Given the description of an element on the screen output the (x, y) to click on. 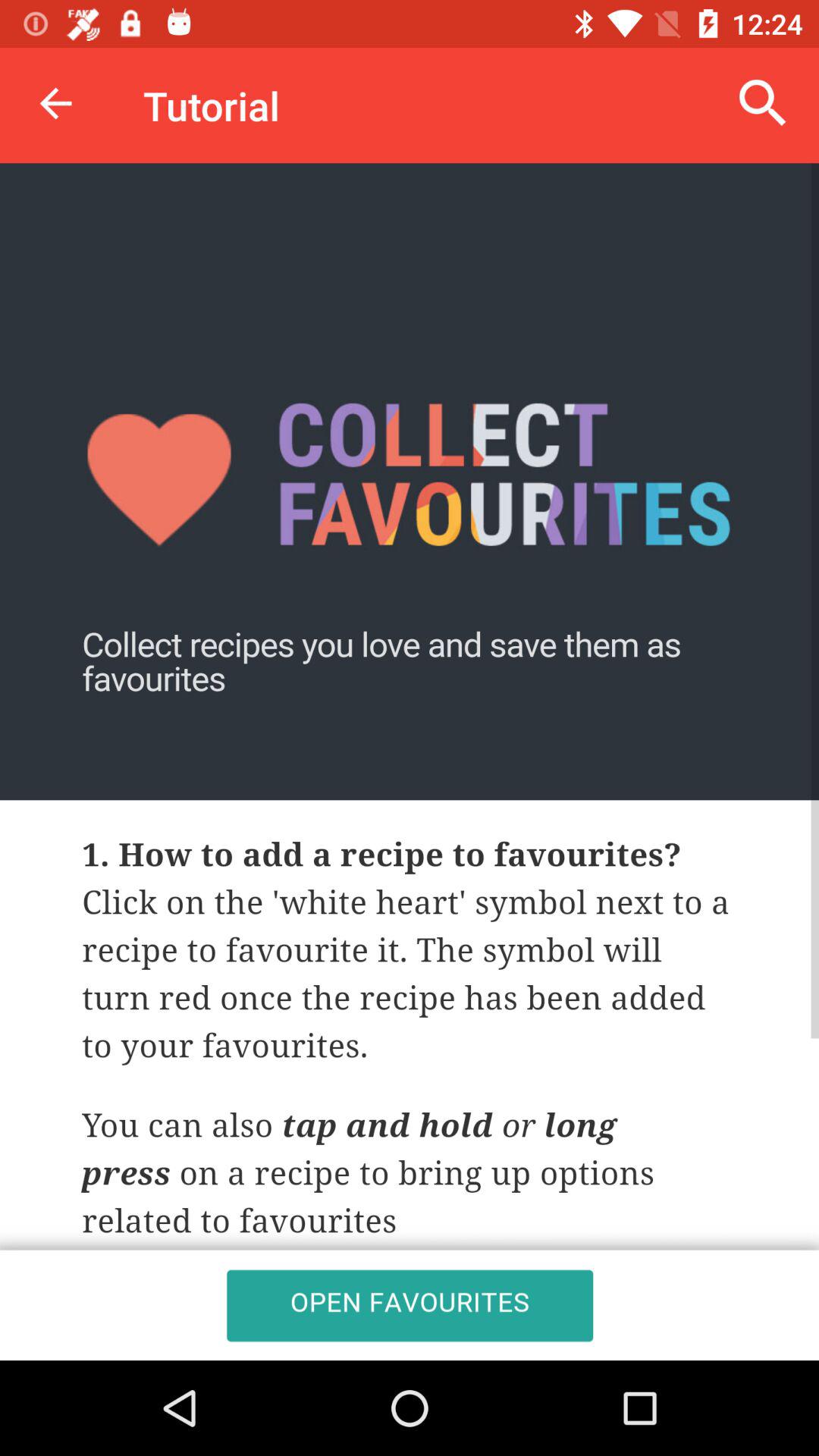
open app (409, 761)
